Given the description of an element on the screen output the (x, y) to click on. 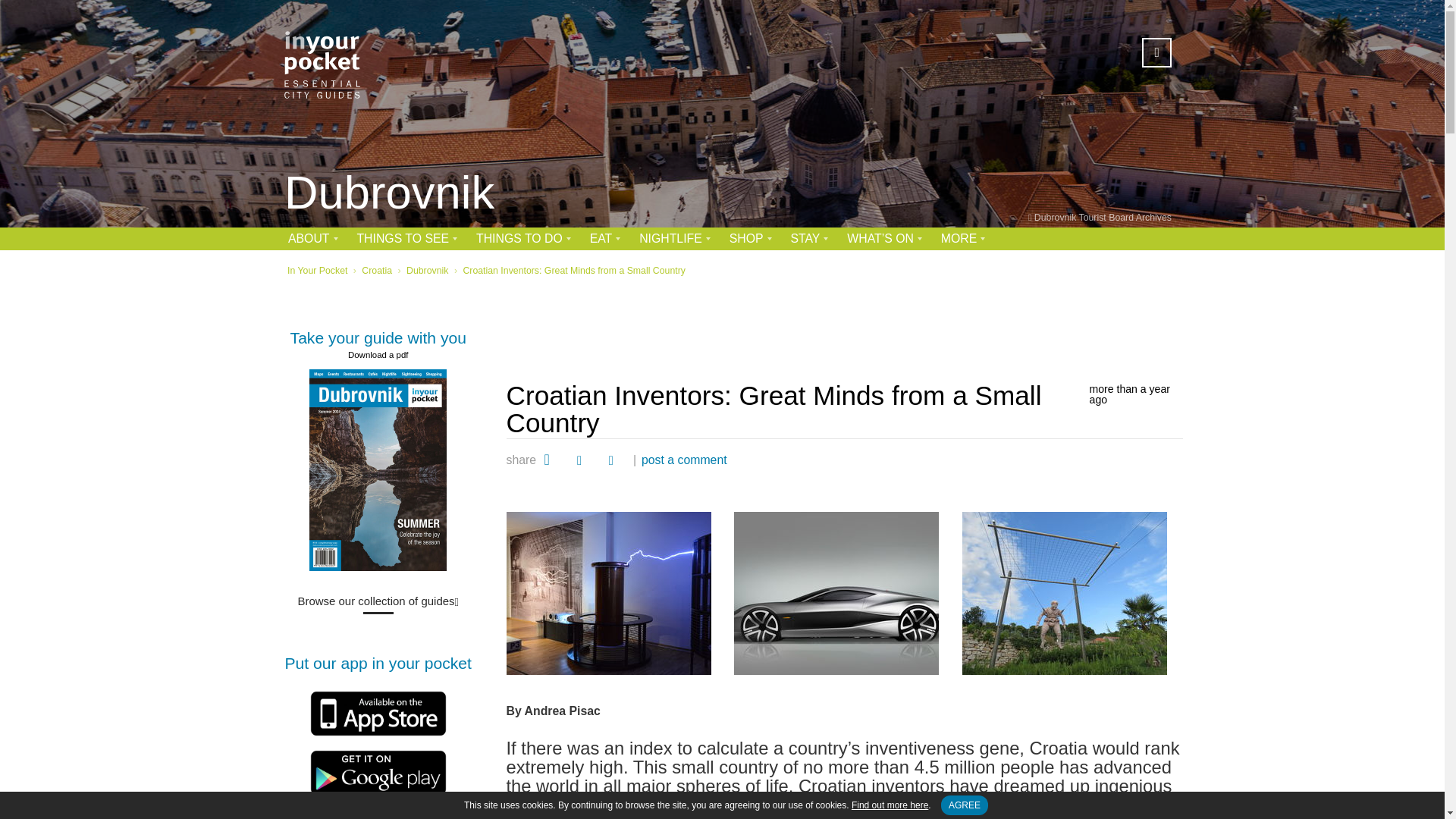
post a comment (684, 459)
Dubrovnik (389, 194)
Advertisement (845, 325)
